Given the description of an element on the screen output the (x, y) to click on. 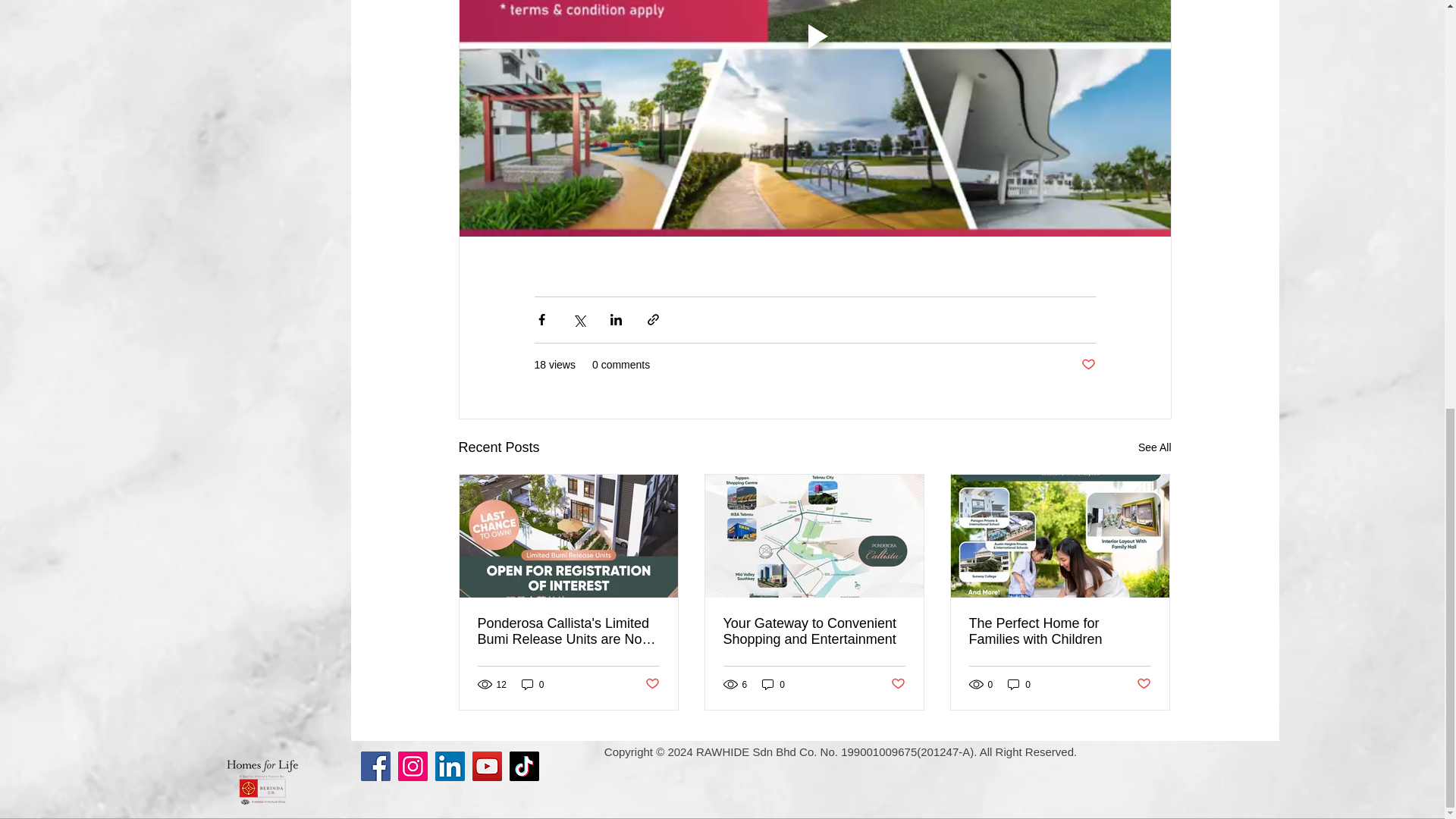
Post not marked as liked (896, 684)
Your Gateway to Convenient Shopping and Entertainment (814, 631)
See All (1155, 447)
Post not marked as liked (1088, 365)
Post not marked as liked (1142, 684)
Post not marked as liked (652, 684)
BERINDA PROPERTIES LOGO 1-PhotoRoom.png- (261, 2)
0 (532, 684)
The Perfect Home for Families with Children (1060, 631)
0 (773, 684)
